Given the description of an element on the screen output the (x, y) to click on. 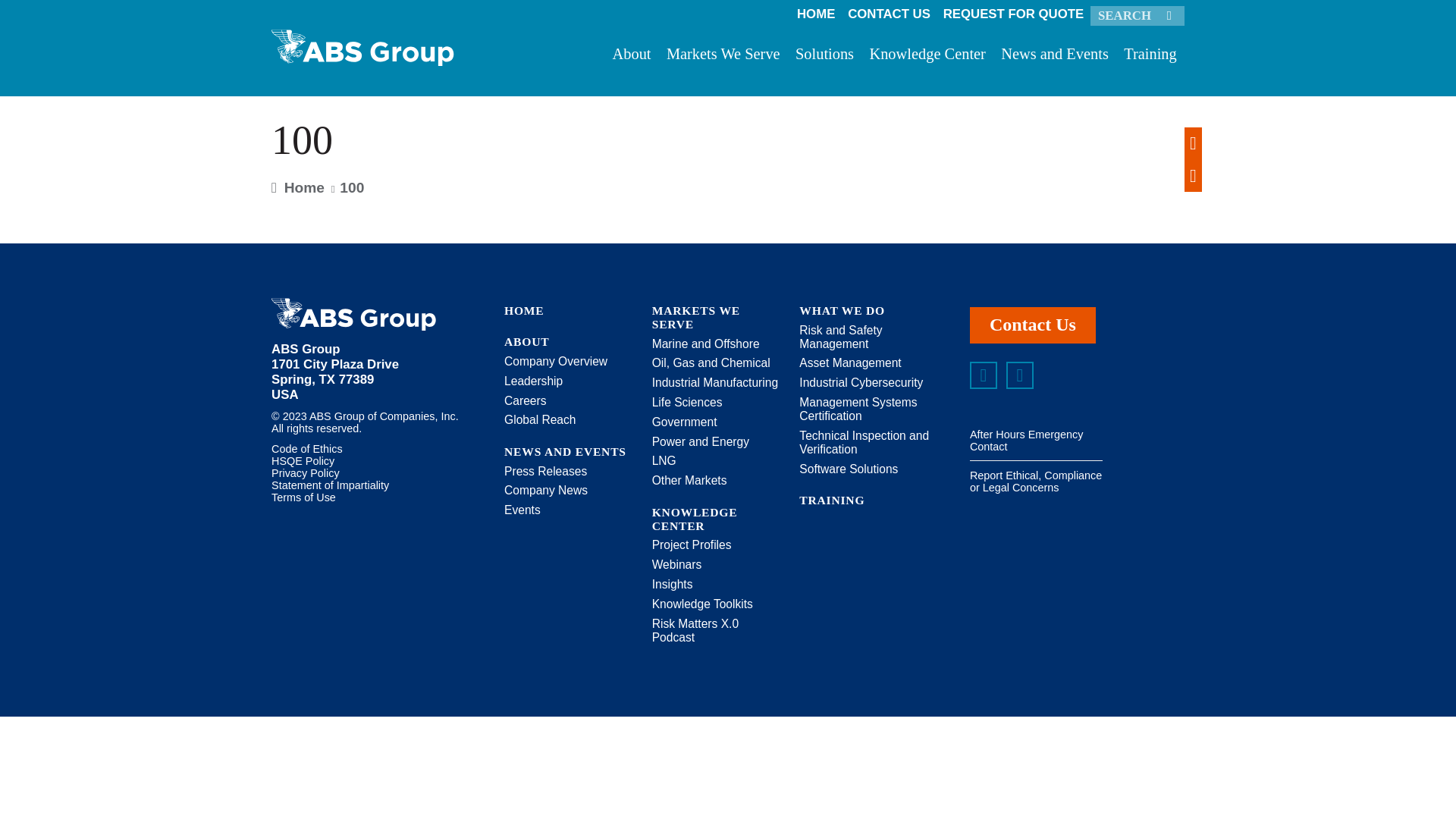
Solutions (824, 57)
Markets We Serve (723, 57)
Linkedin (983, 375)
Twitter (1019, 375)
CONTACT US (889, 14)
HOME (815, 14)
About (631, 57)
REQUEST FOR QUOTE (1012, 14)
